Given the description of an element on the screen output the (x, y) to click on. 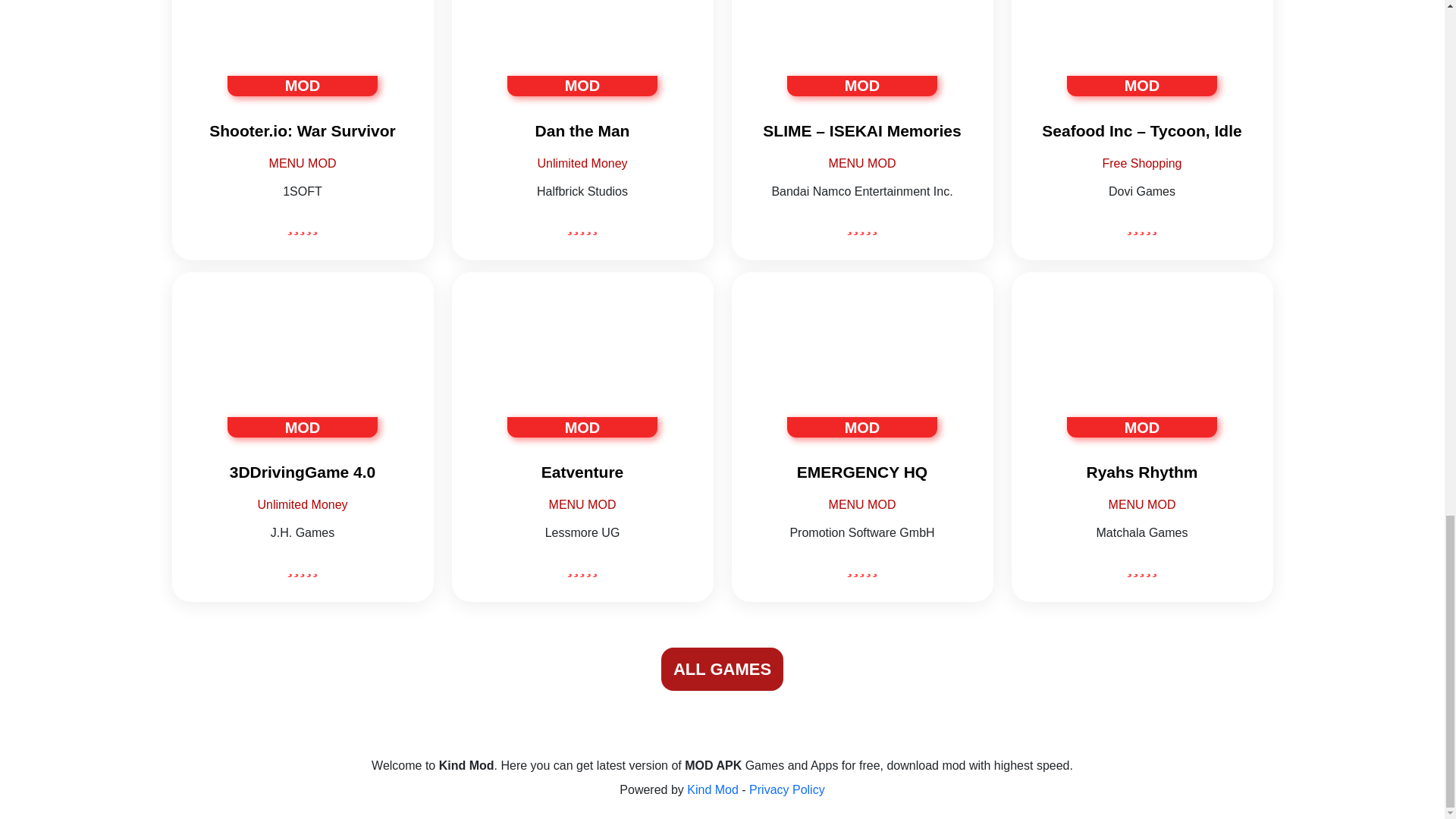
Shooter.io: War Survivor (301, 130)
Dan the Man (582, 130)
